Given the description of an element on the screen output the (x, y) to click on. 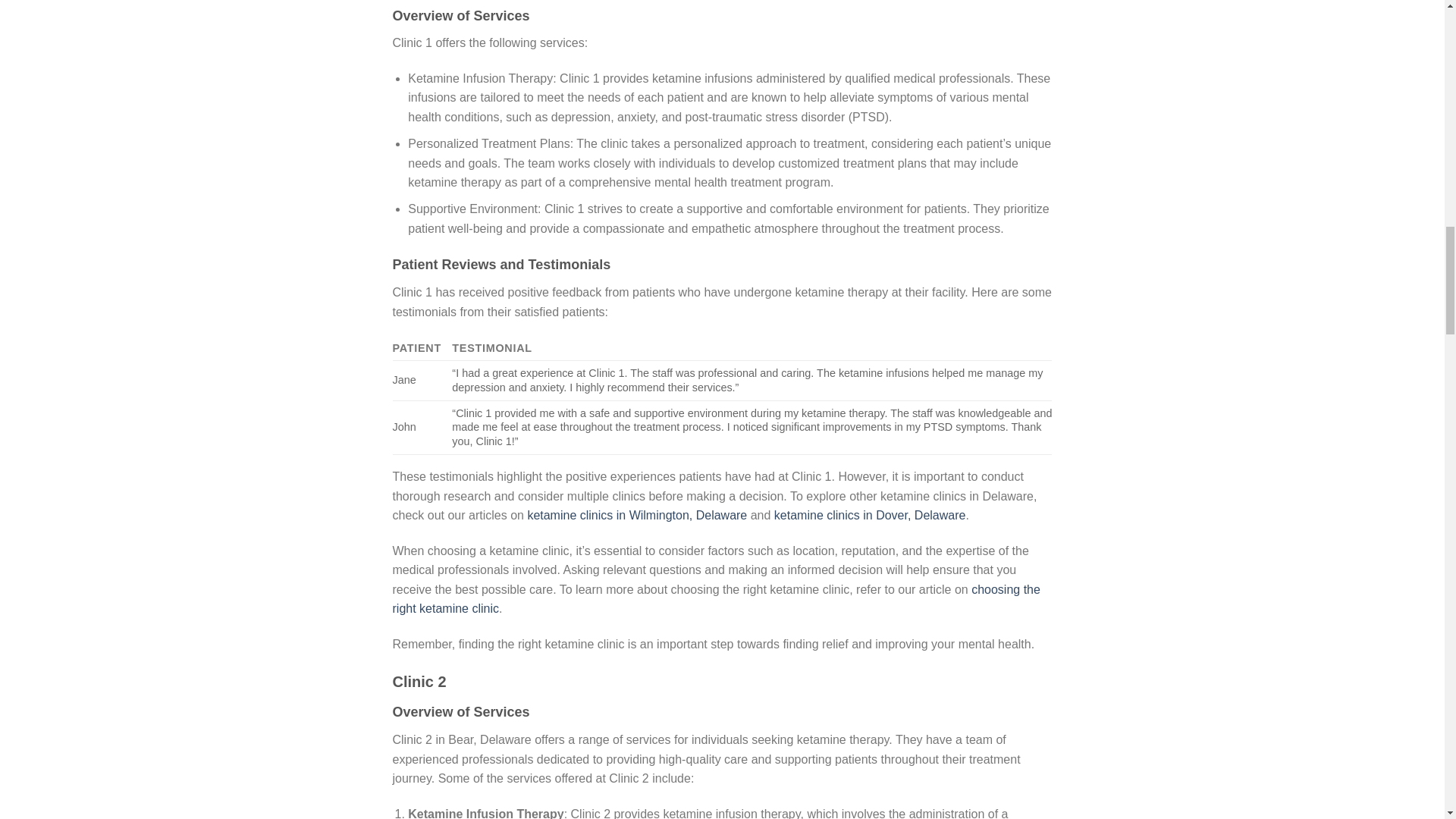
ketamine clinics in Wilmington, Delaware (636, 514)
